Given the description of an element on the screen output the (x, y) to click on. 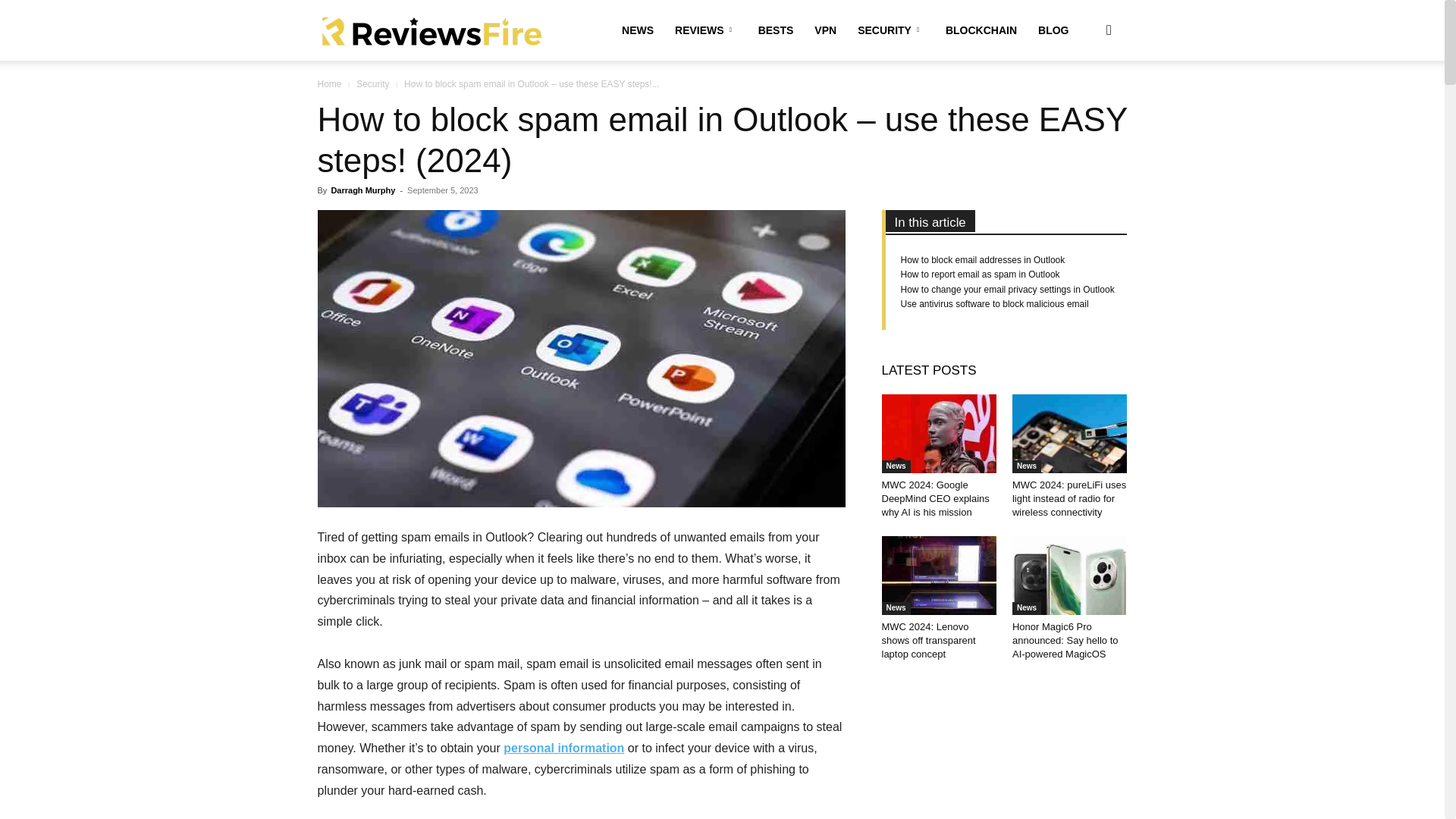
Darragh Murphy (362, 189)
BESTS (776, 30)
Search (1085, 102)
personal information (563, 748)
Home (328, 83)
Security (372, 83)
SECURITY (890, 30)
View all posts in Security (372, 83)
REVIEWS (705, 30)
ReviewsFire (430, 30)
BLOCKCHAIN (980, 30)
